Given the description of an element on the screen output the (x, y) to click on. 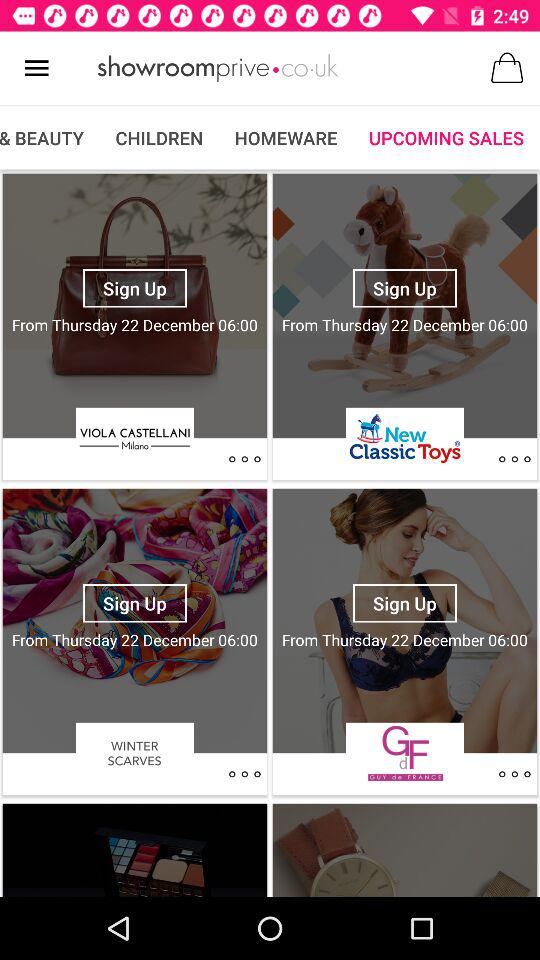
go to homepage (217, 67)
